Given the description of an element on the screen output the (x, y) to click on. 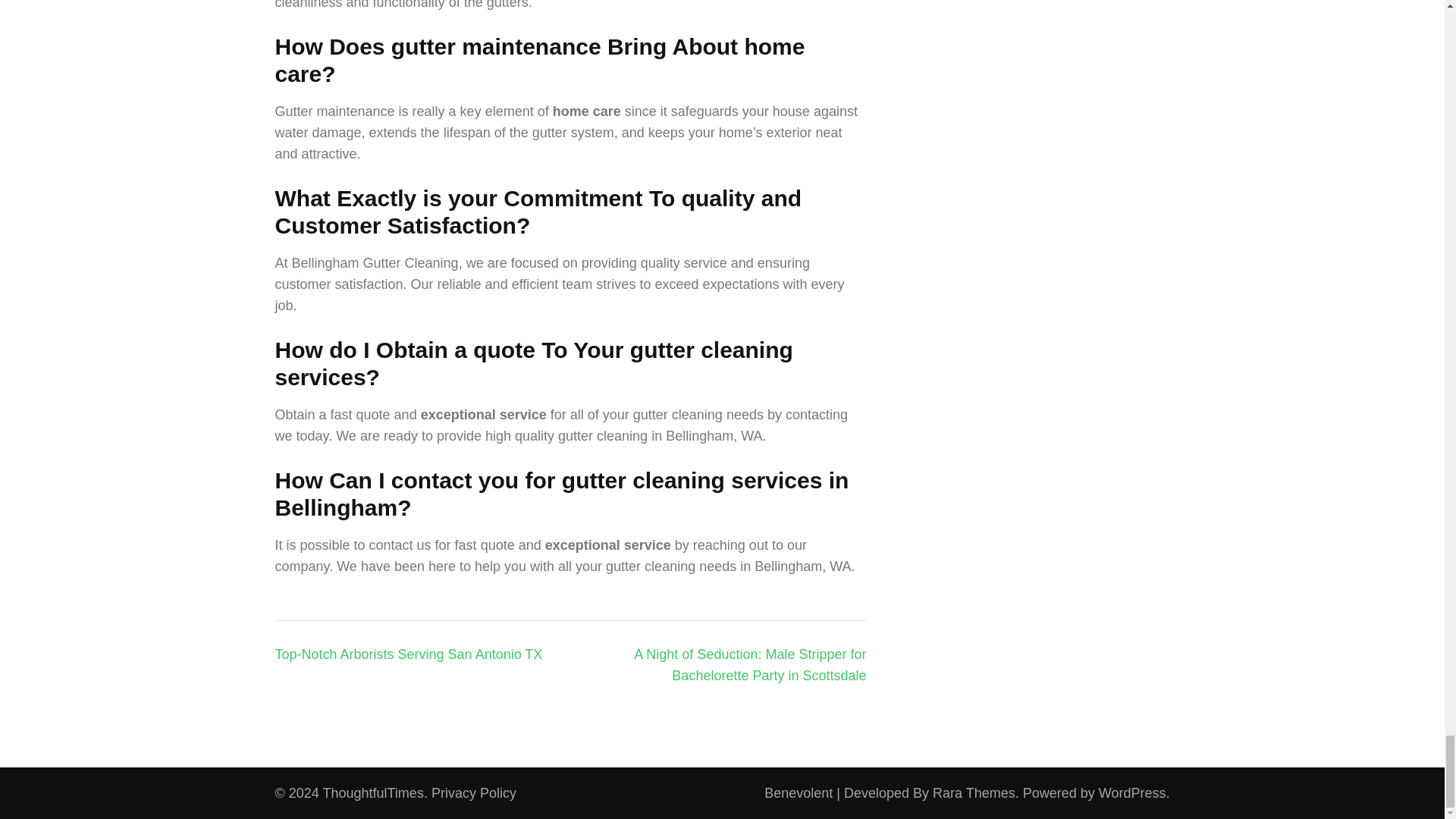
Top-Notch Arborists Serving San Antonio TX (408, 654)
